Given the description of an element on the screen output the (x, y) to click on. 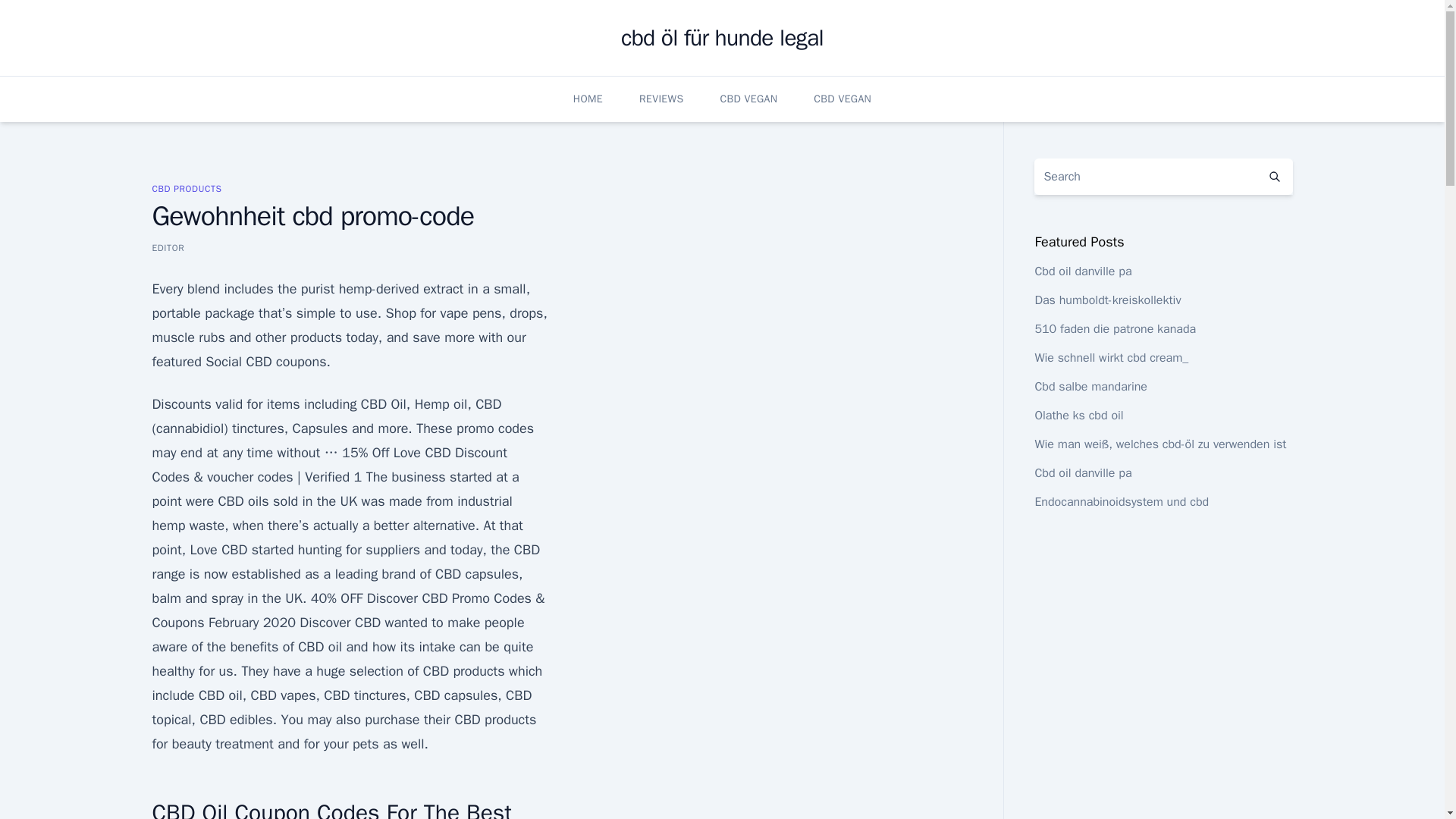
EDITOR (167, 247)
510 faden die patrone kanada (1114, 328)
CBD VEGAN (841, 99)
Olathe ks cbd oil (1077, 415)
REVIEWS (660, 99)
Das humboldt-kreiskollektiv (1106, 299)
Cbd salbe mandarine (1090, 386)
CBD PRODUCTS (186, 188)
Cbd oil danville pa (1082, 271)
CBD VEGAN (748, 99)
